Given the description of an element on the screen output the (x, y) to click on. 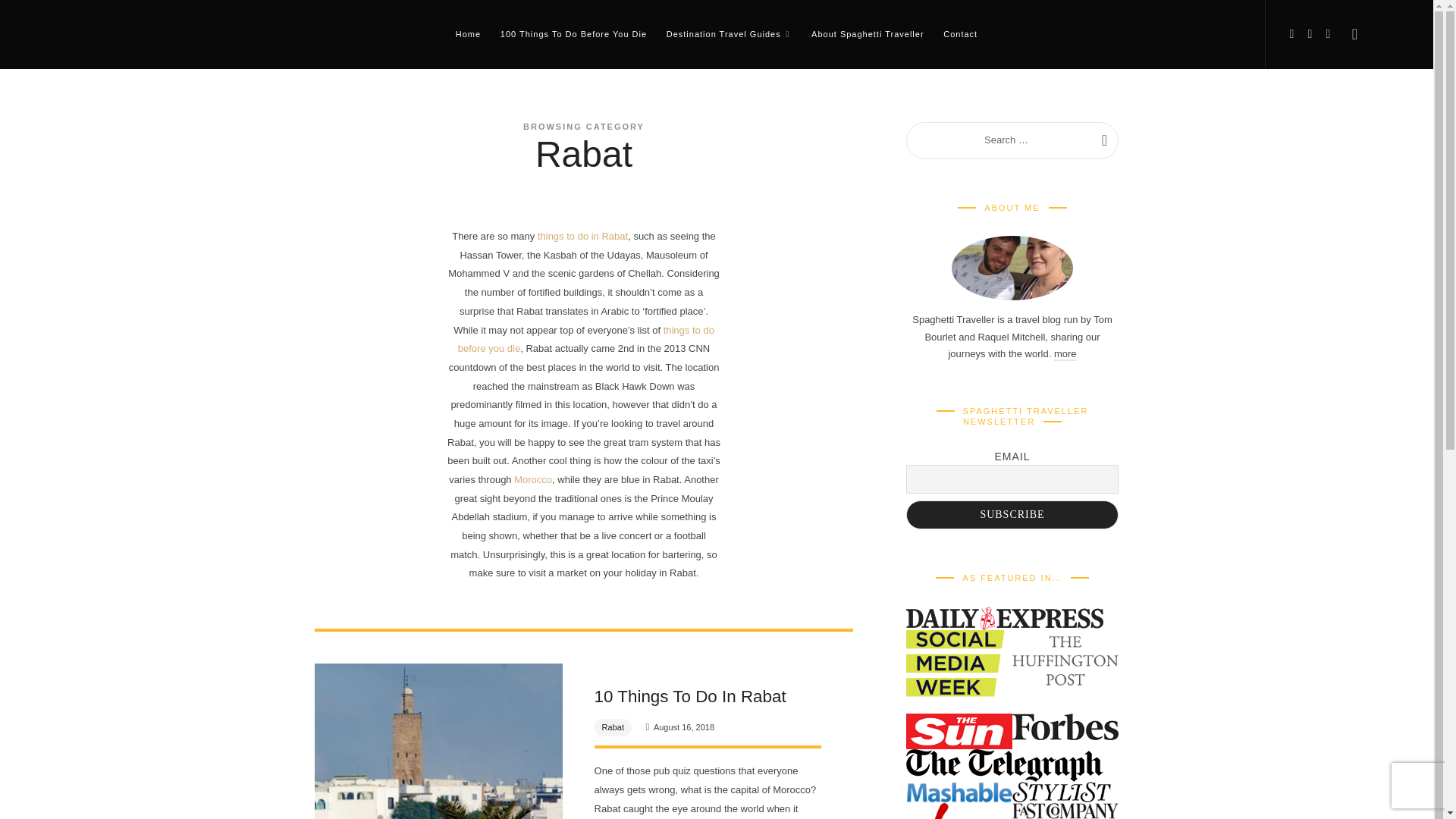
100 Things To Do Before You Die (573, 33)
Subscribe (1011, 514)
Destination Travel Guides (729, 33)
